Given the description of an element on the screen output the (x, y) to click on. 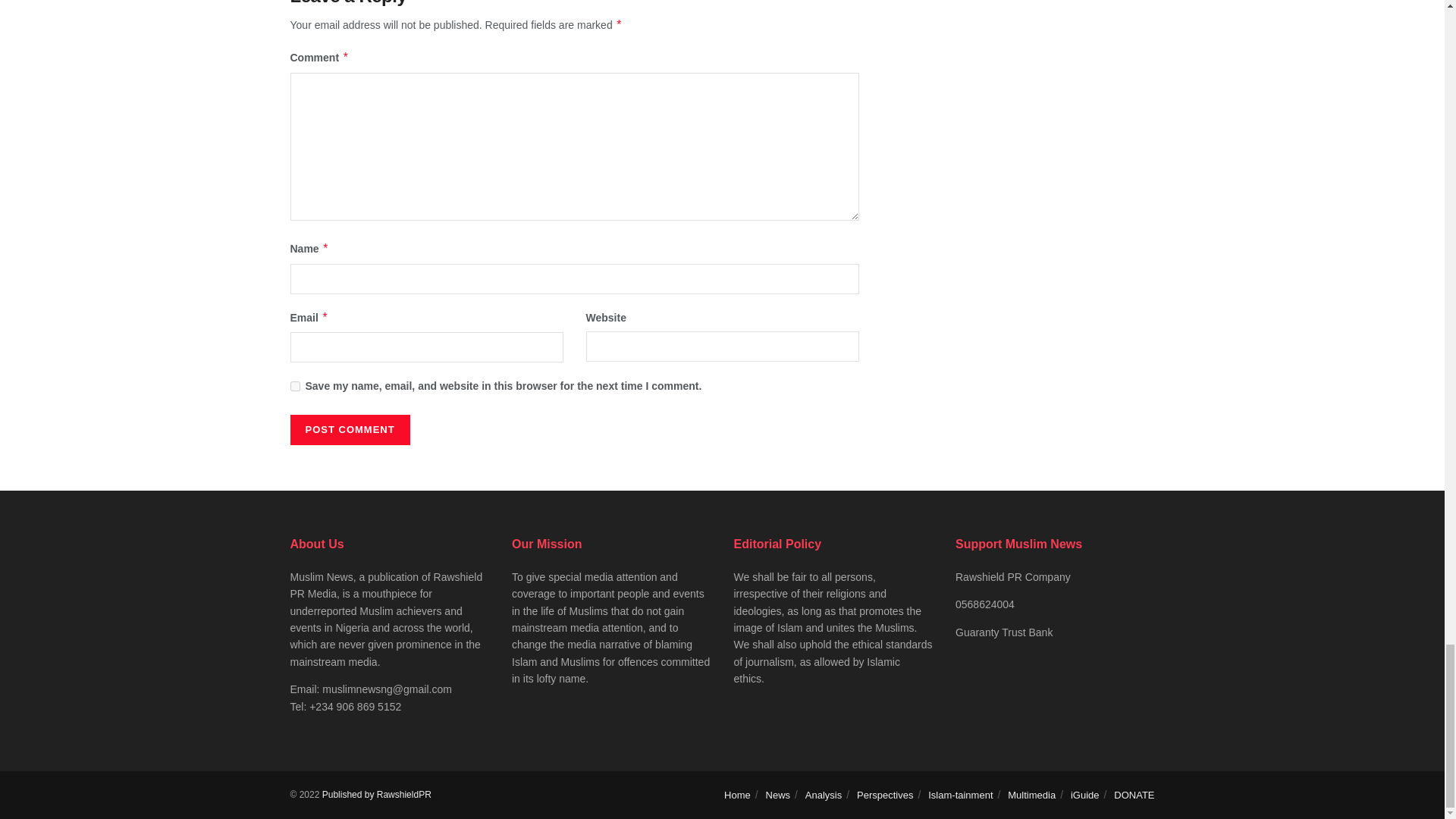
Post Comment (349, 429)
Published by RawshieldPR (375, 794)
yes (294, 386)
